Given the description of an element on the screen output the (x, y) to click on. 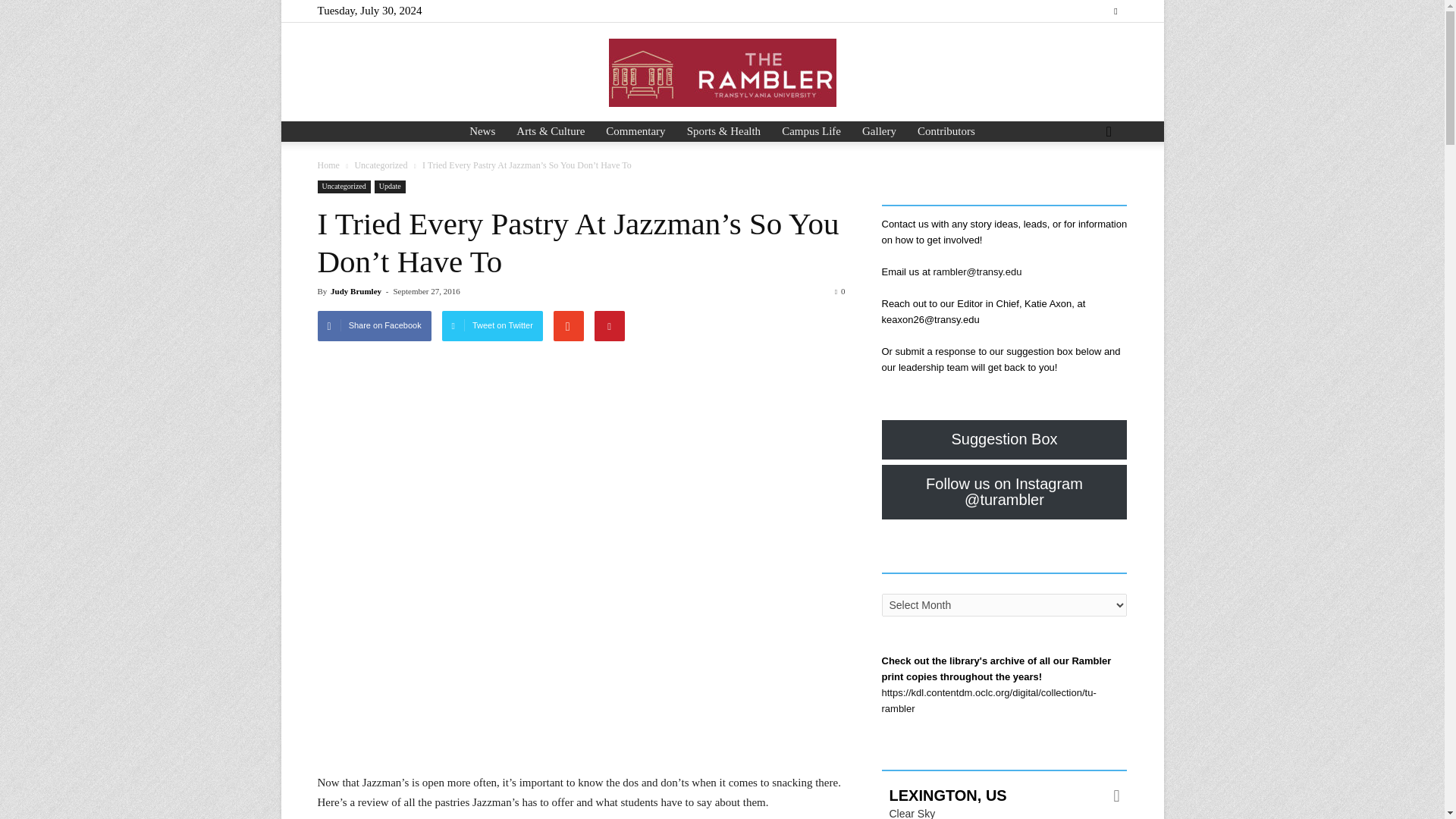
Judy Brumley (355, 290)
Campus Life (811, 131)
Contributors (946, 131)
Uncategorized (343, 186)
Share on Facebook (373, 326)
The Rambler (722, 72)
Commentary (635, 131)
Gallery (879, 131)
Uncategorized (380, 164)
News (481, 131)
Home (328, 164)
0 (839, 290)
Update (390, 186)
View all posts in Uncategorized (380, 164)
Instagram (1114, 10)
